Given the description of an element on the screen output the (x, y) to click on. 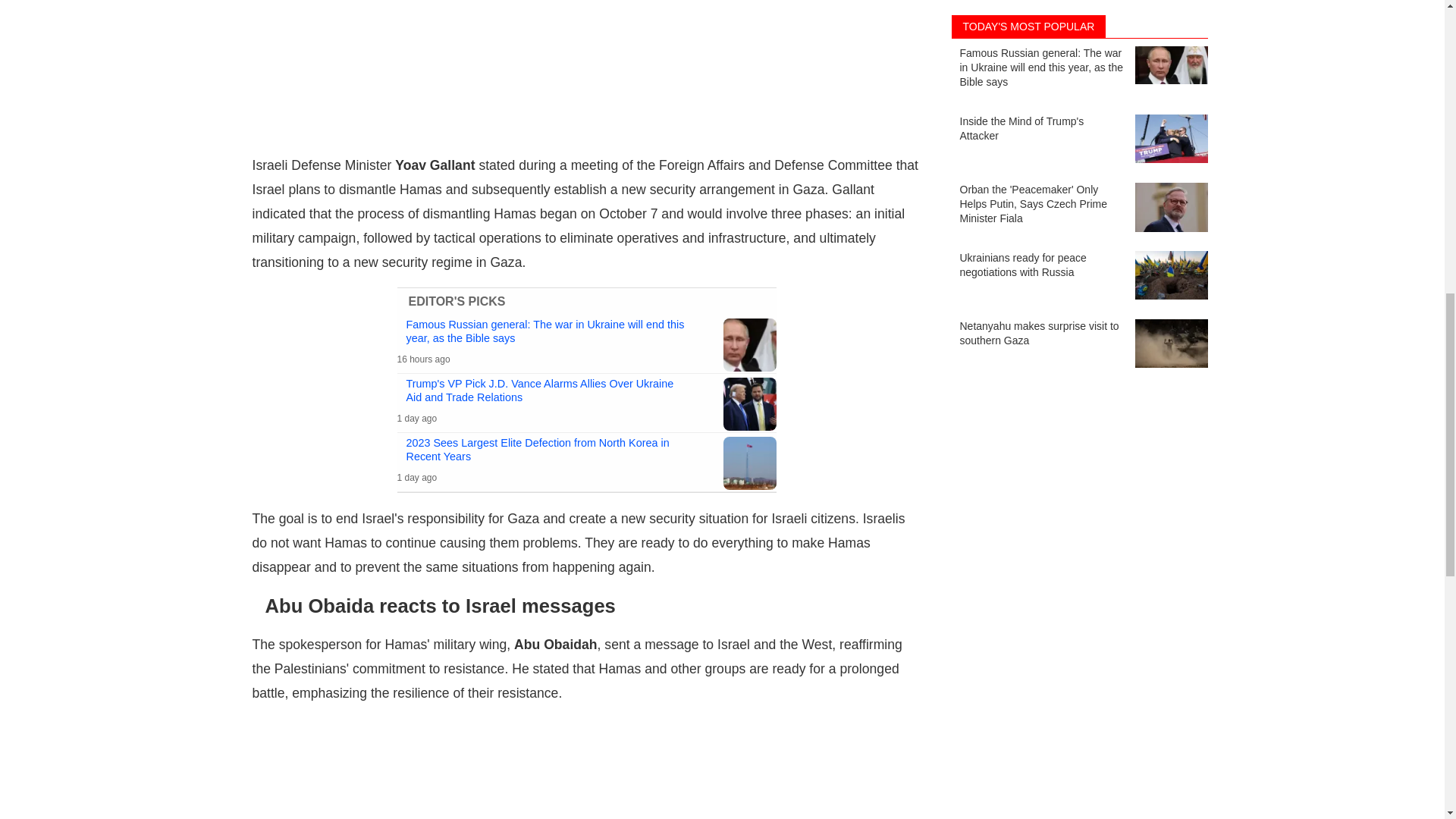
Netanyahu makes surprise visit to southern Gaza (1078, 21)
